Given the description of an element on the screen output the (x, y) to click on. 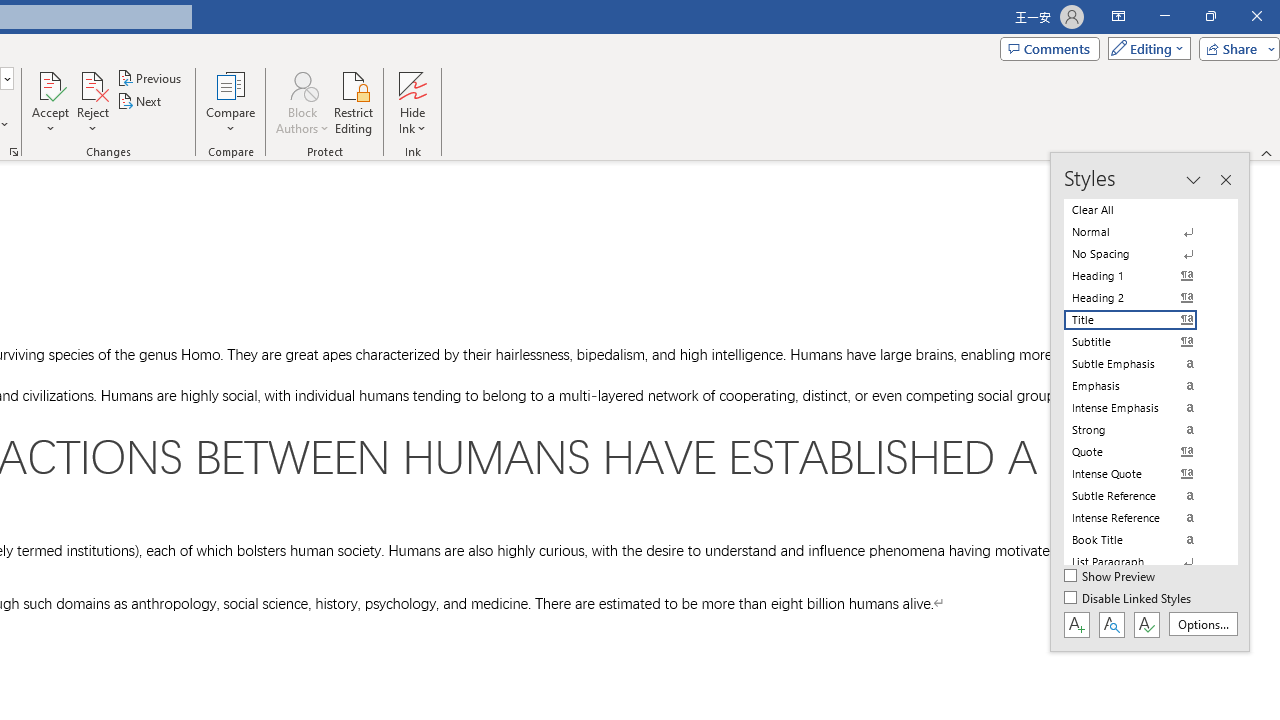
List Paragraph (1142, 561)
Intense Reference (1142, 517)
Accept and Move to Next (50, 84)
Editing (1144, 47)
Show Preview (1110, 577)
Close pane (1225, 179)
Emphasis (1142, 385)
Reject and Move to Next (92, 84)
Block Authors (302, 84)
No Spacing (1142, 253)
Compare (230, 102)
